Given the description of an element on the screen output the (x, y) to click on. 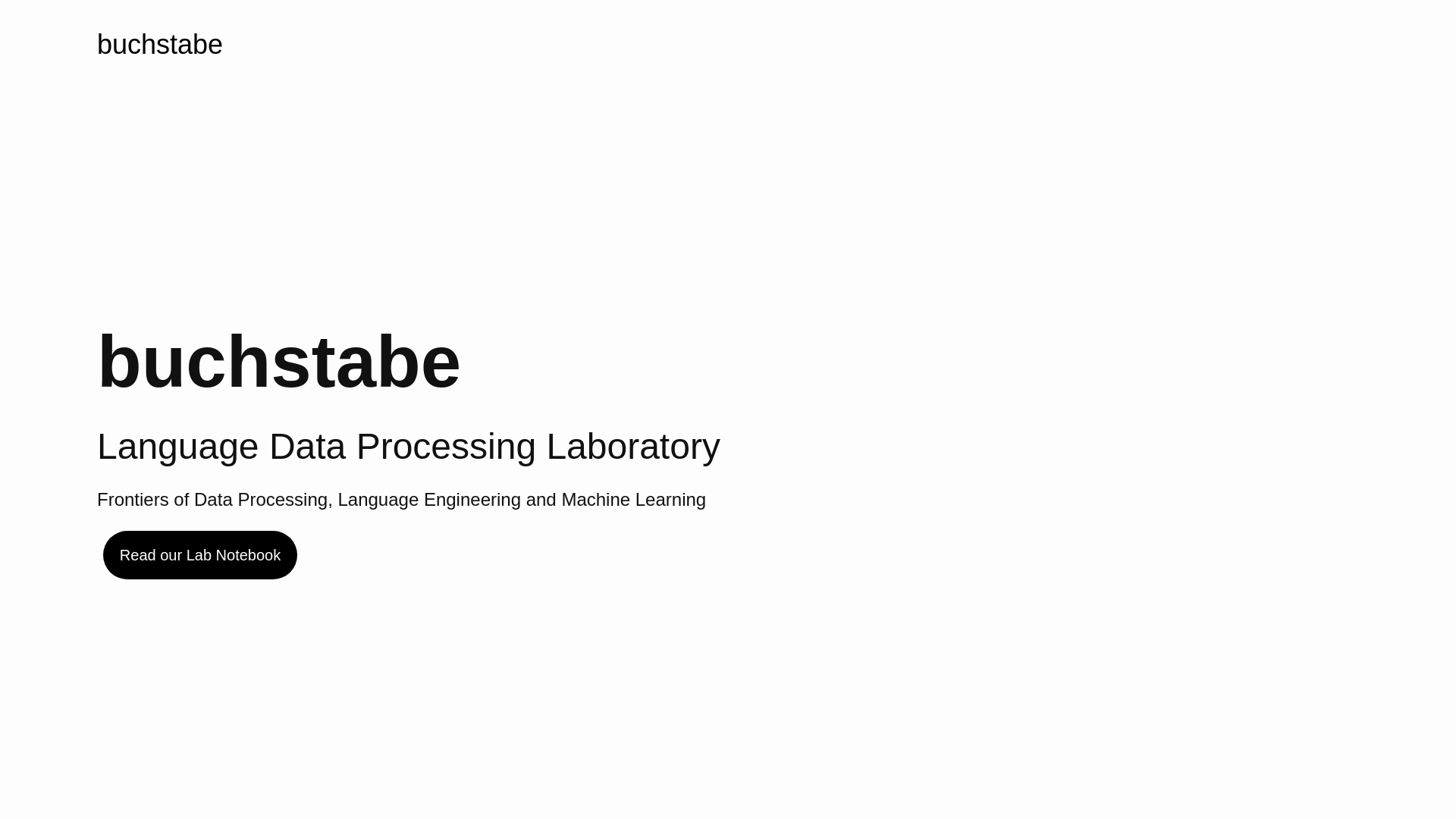
Read our Lab Notebook Element type: text (200, 554)
